Given the description of an element on the screen output the (x, y) to click on. 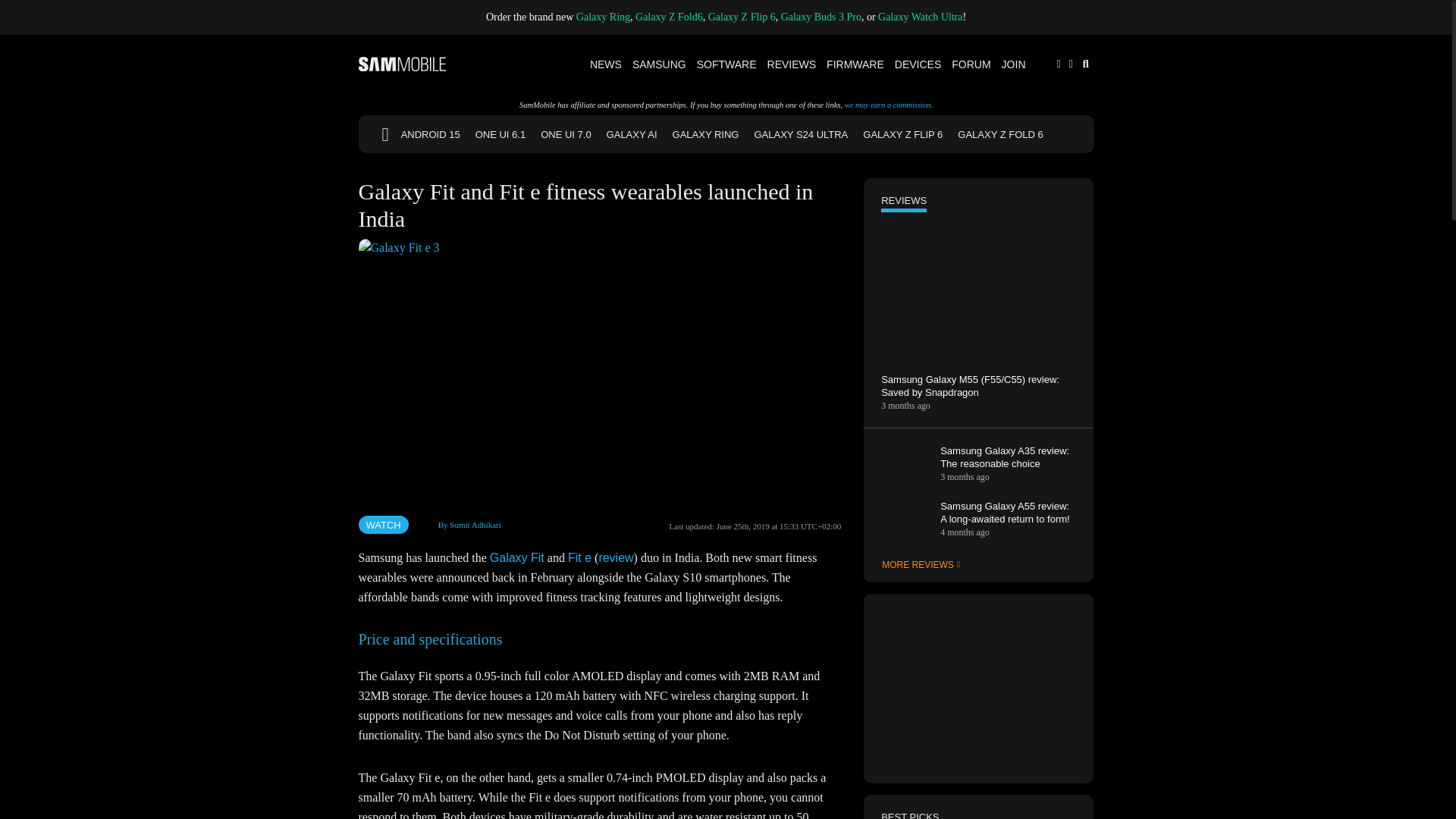
Galaxy Z Flip 6 (741, 16)
Samsung (659, 64)
SAMSUNG (659, 64)
NEWS (606, 64)
Galaxy Watch Ultra (919, 16)
SamMobile logo (401, 63)
Galaxy Buds 3 Pro (820, 16)
Galaxy Z Fold6 (668, 16)
Galaxy Ring (603, 16)
